Given the description of an element on the screen output the (x, y) to click on. 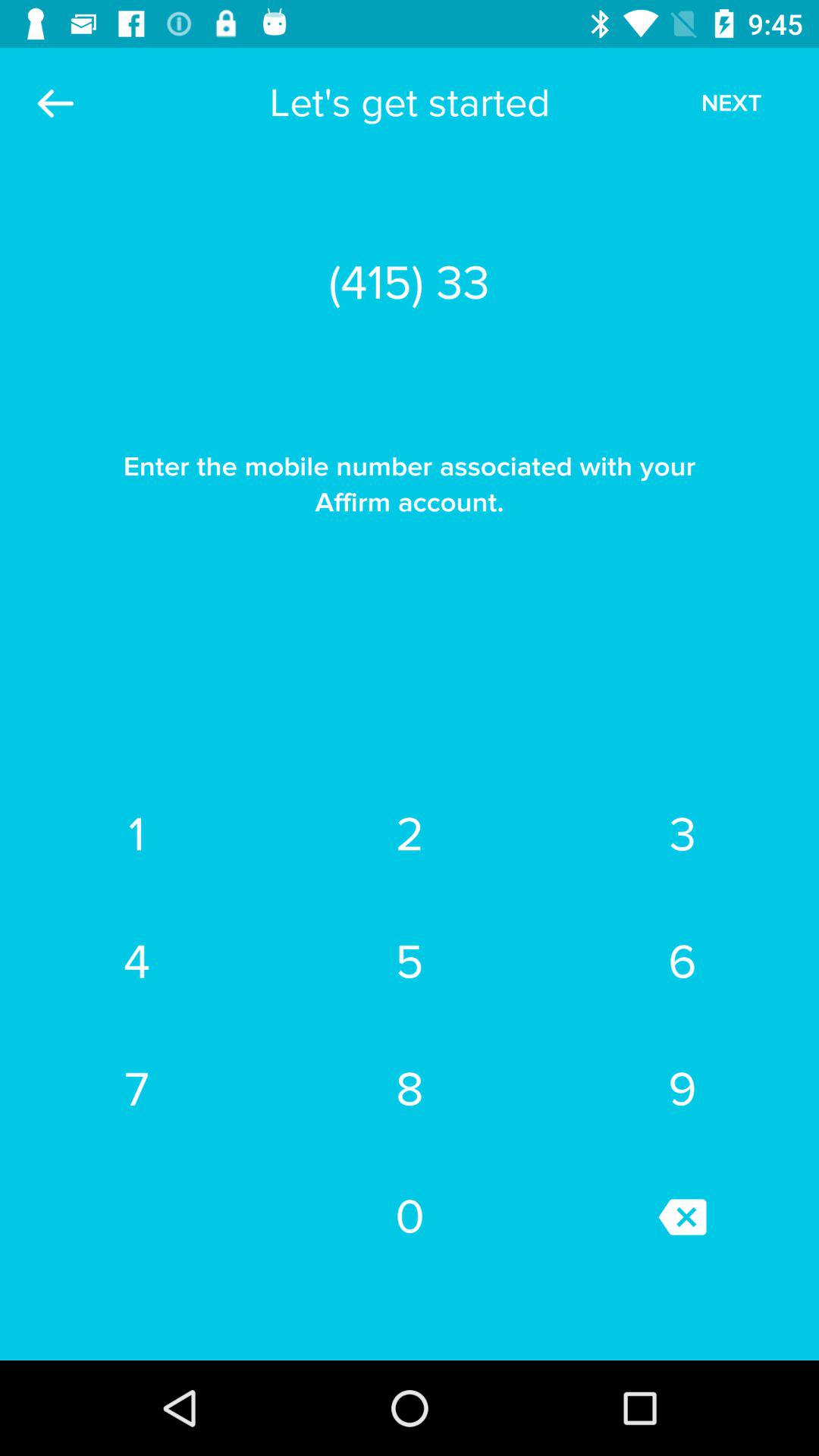
tap item above the 7 item (136, 962)
